Given the description of an element on the screen output the (x, y) to click on. 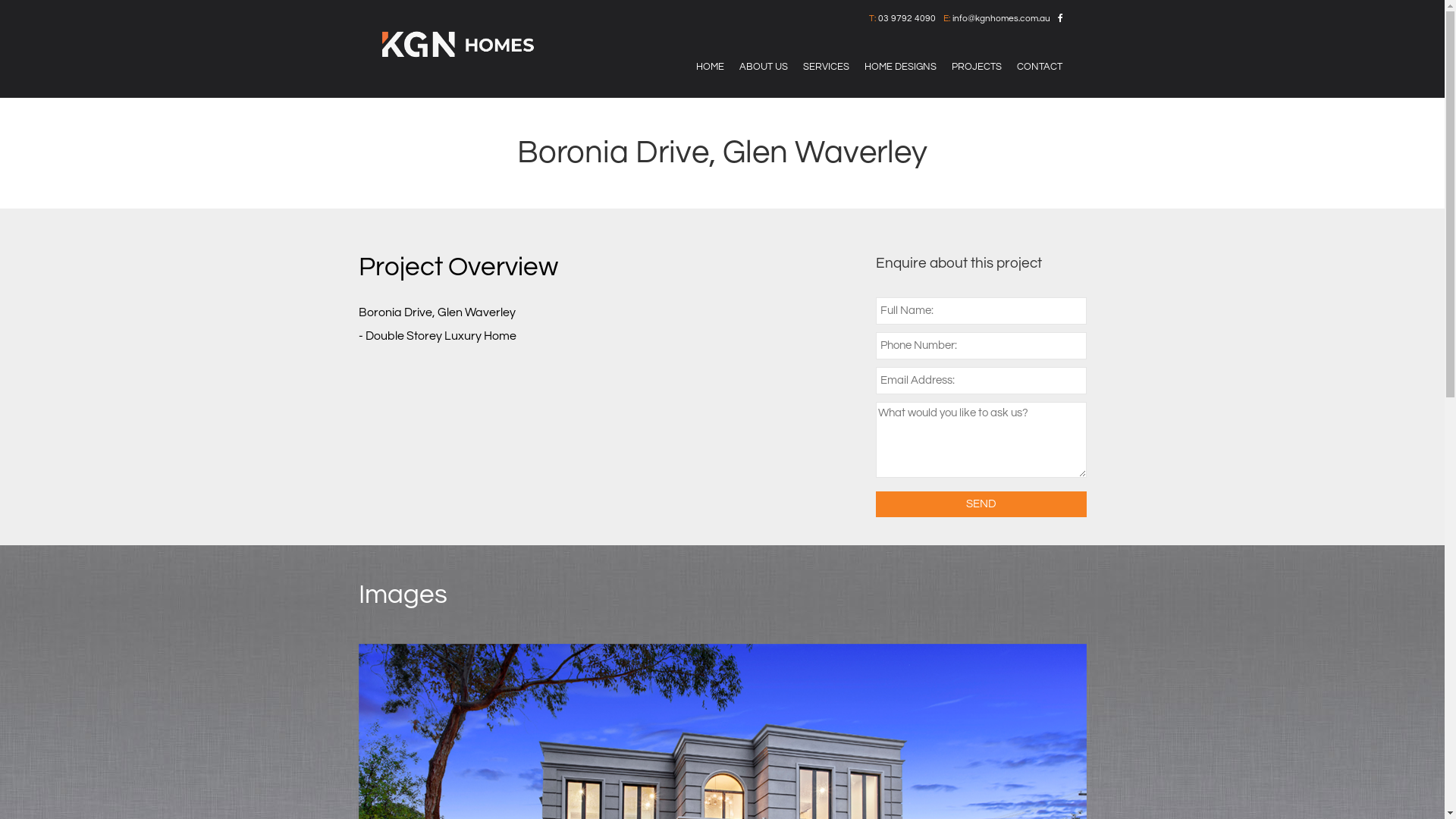
PROJECTS Element type: text (976, 66)
HOME Element type: text (710, 66)
KGN Homes Element type: hover (457, 43)
SERVICES Element type: text (826, 66)
info@kgnhomes.com.au Element type: text (1001, 18)
03 9792 4090 Element type: text (906, 18)
HOME DESIGNS Element type: text (900, 66)
Facebook Element type: hover (1060, 18)
CONTACT Element type: text (1039, 66)
ABOUT US Element type: text (763, 66)
Send Element type: text (980, 504)
